Given the description of an element on the screen output the (x, y) to click on. 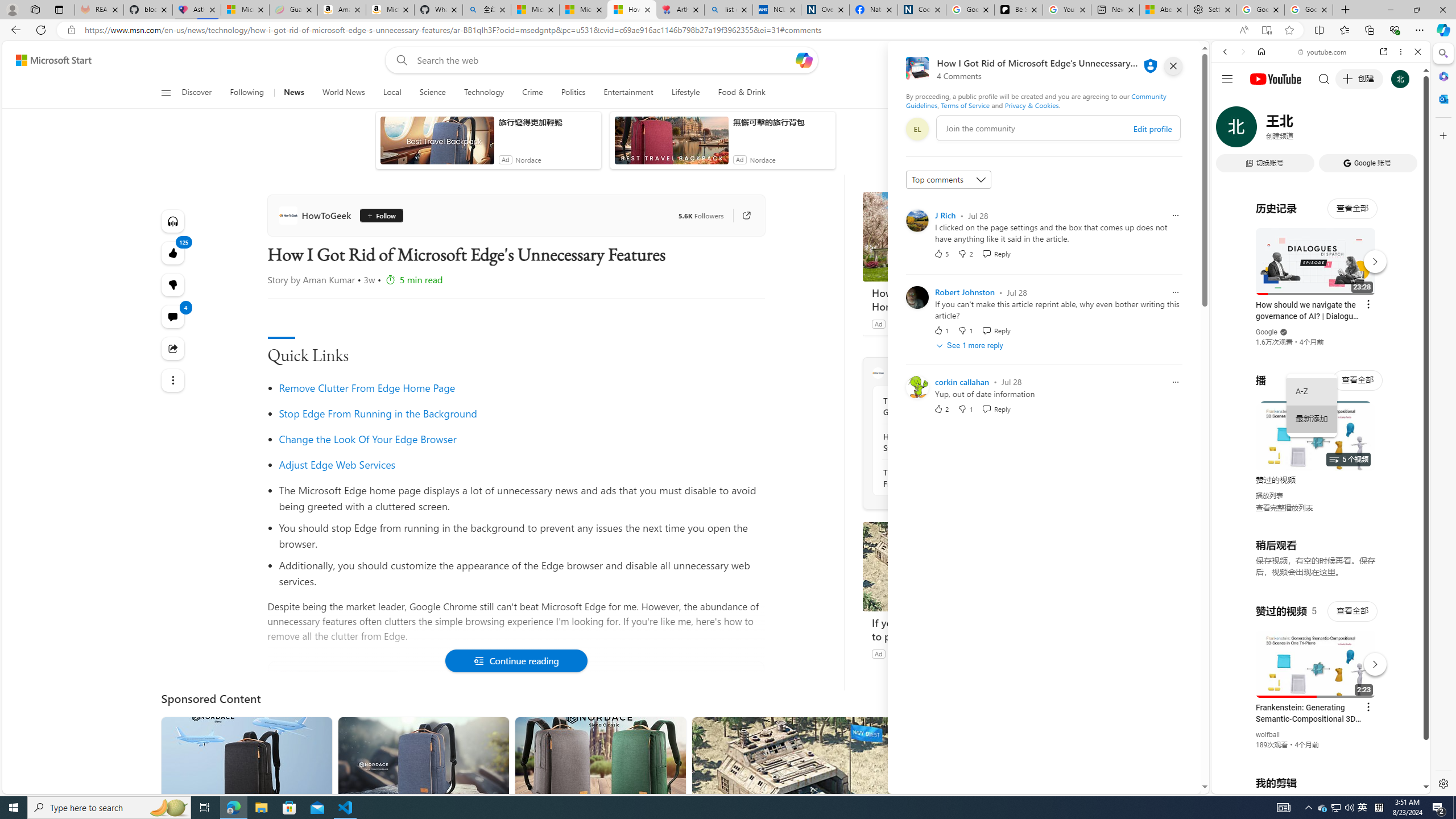
list of asthma inhalers uk - Search (727, 9)
This site scope (1259, 102)
Navy Quest Game (915, 653)
Web search (398, 60)
Music (1320, 309)
Science (432, 92)
VIDEOS (1300, 130)
Local (392, 92)
